Given the description of an element on the screen output the (x, y) to click on. 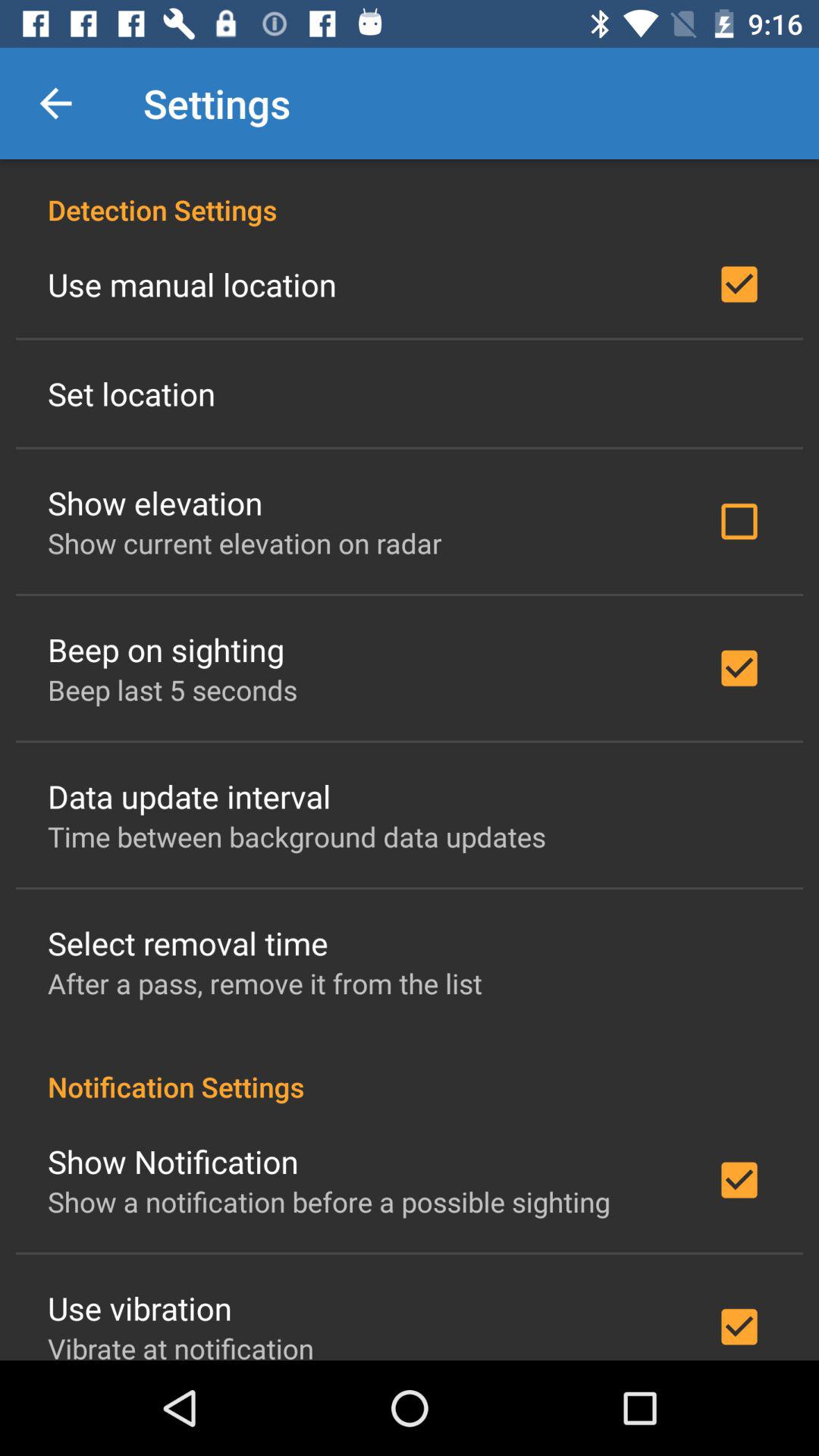
choose the item below the detection settings (191, 283)
